Given the description of an element on the screen output the (x, y) to click on. 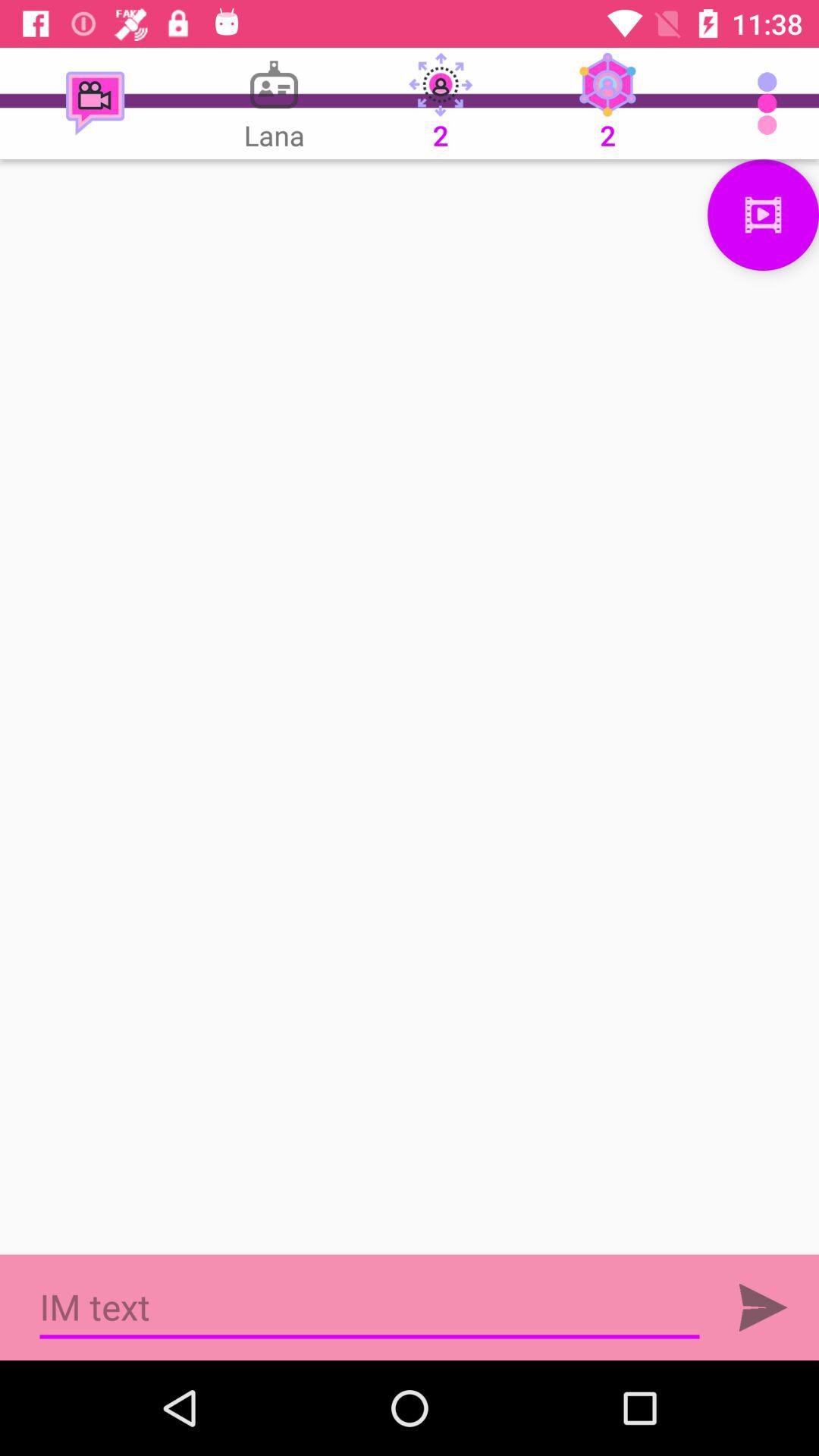
see video (763, 214)
